Given the description of an element on the screen output the (x, y) to click on. 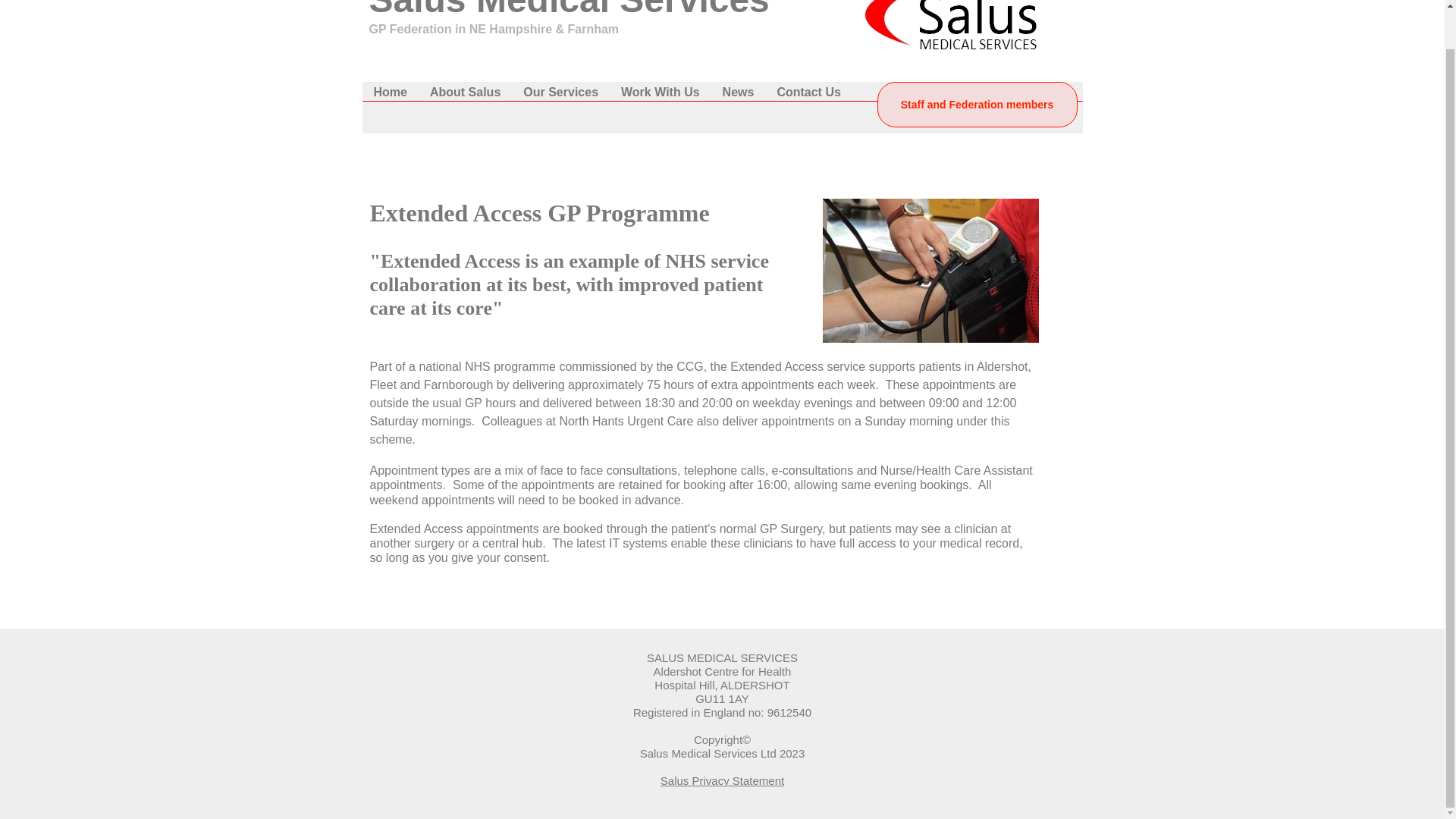
Salus Privacy Statement (722, 780)
Our Services (561, 92)
Contact Us (808, 92)
About Salus (465, 92)
Home (390, 92)
Work With Us (660, 92)
News (738, 92)
Staff and Federation members (977, 104)
